Given the description of an element on the screen output the (x, y) to click on. 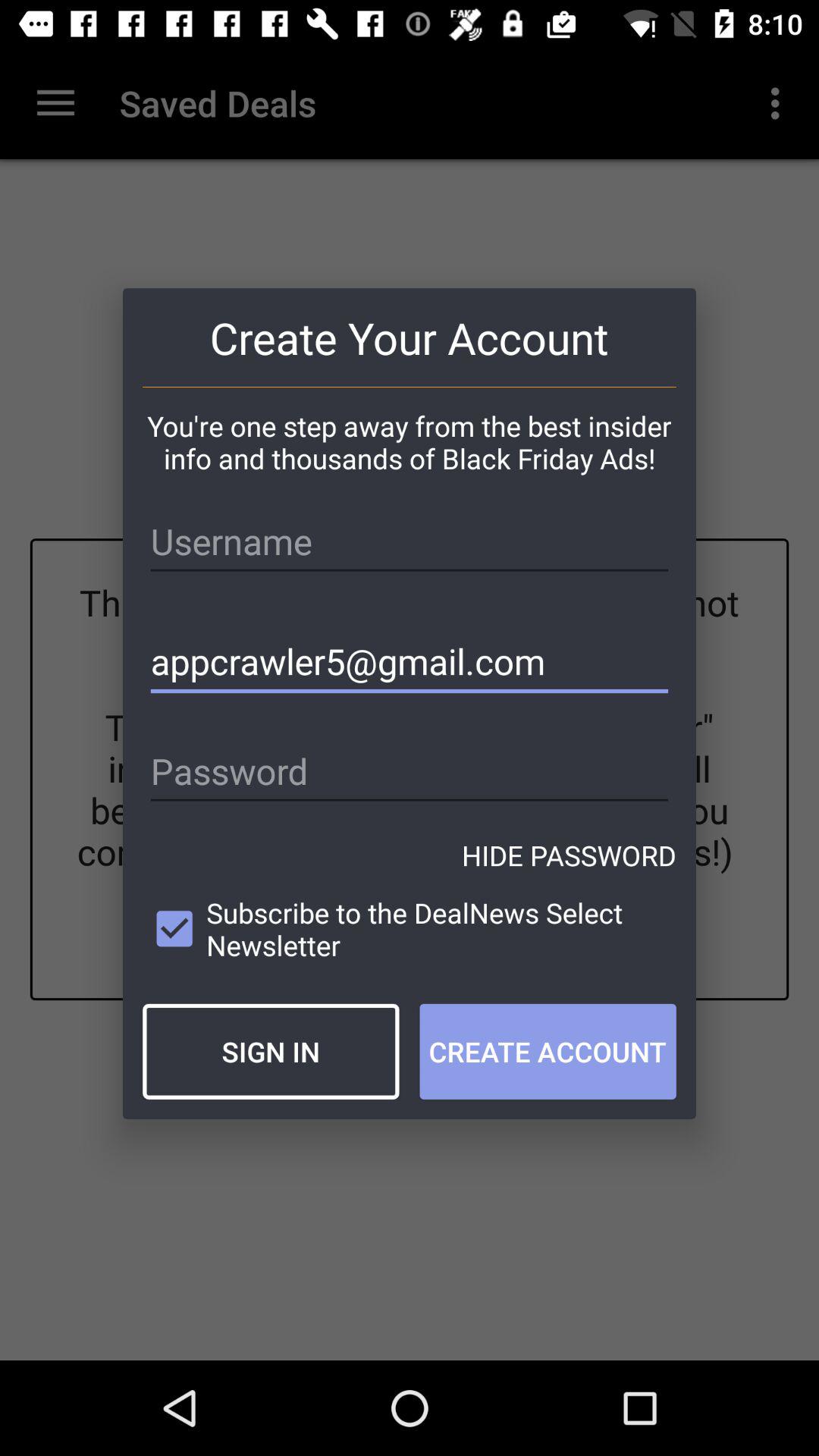
open the hide password on the right (568, 855)
